Given the description of an element on the screen output the (x, y) to click on. 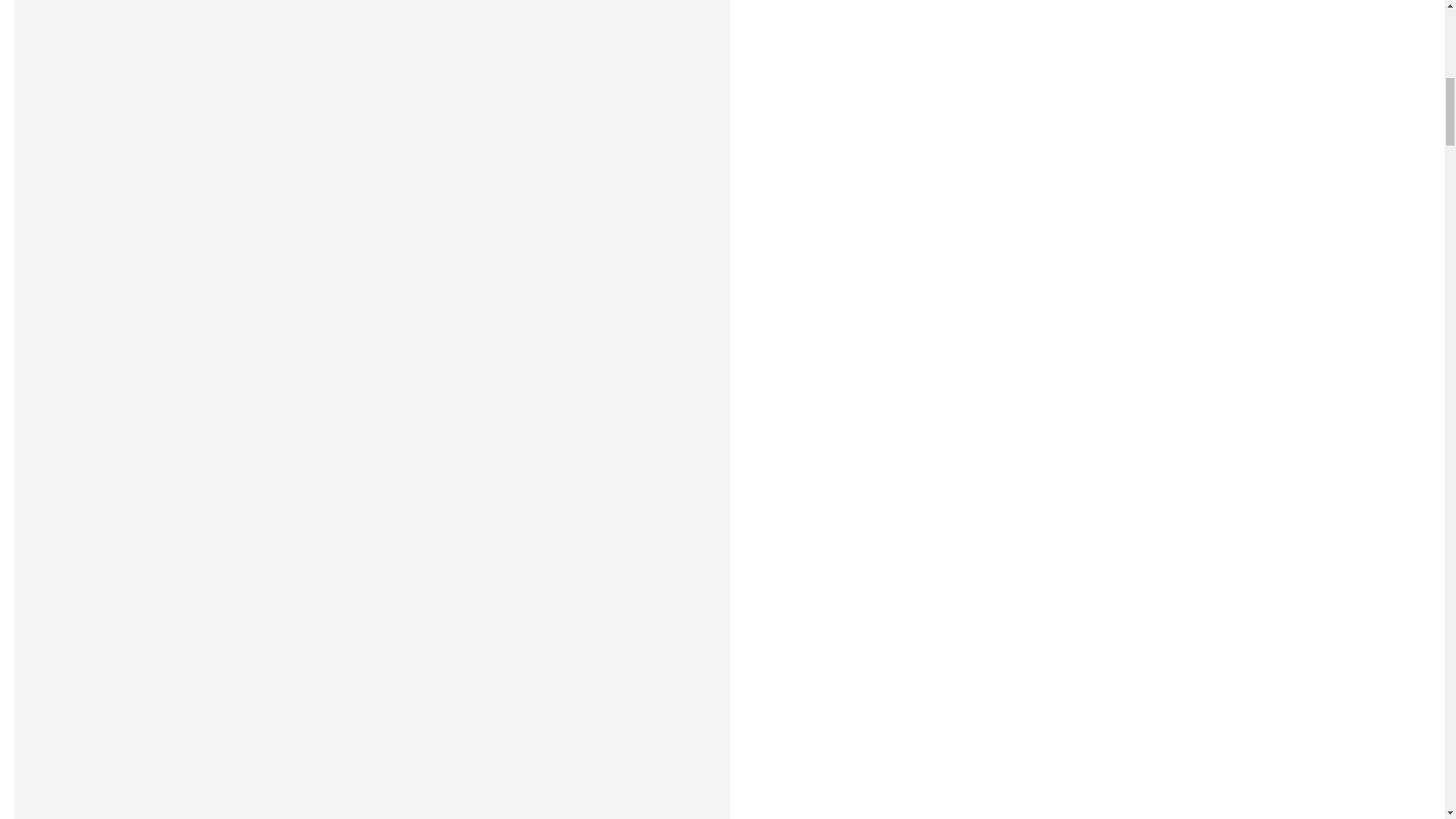
Imprisoning a Whole Nation (371, 290)
